Given the description of an element on the screen output the (x, y) to click on. 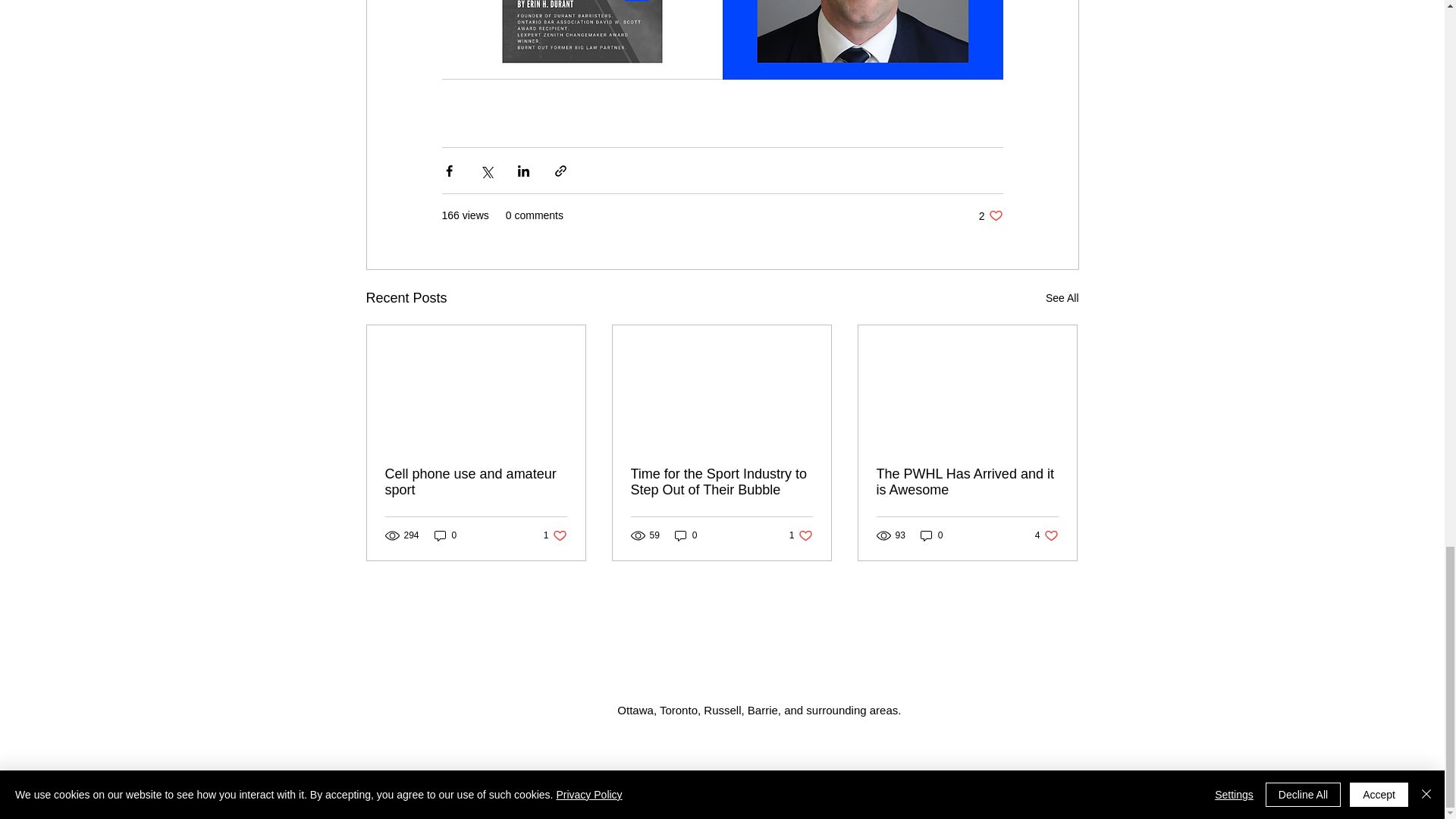
See All (555, 534)
Cell phone use and amateur sport (1061, 298)
0 (990, 215)
